Given the description of an element on the screen output the (x, y) to click on. 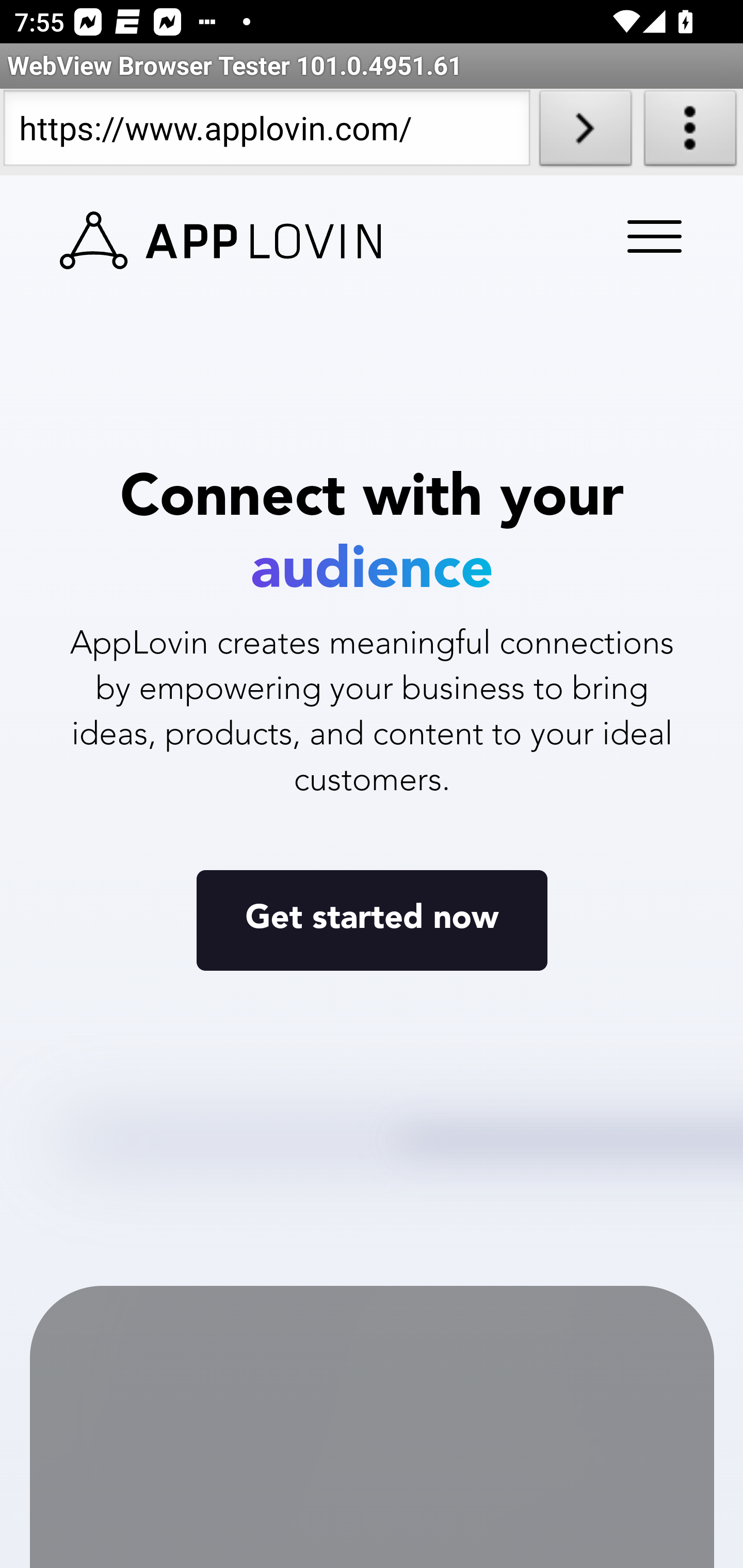
https://www.applovin.com/ (266, 132)
Load URL (585, 132)
About WebView (690, 132)
Menu Trigger (650, 237)
www.applovin (220, 241)
Get started now (371, 919)
